Given the description of an element on the screen output the (x, y) to click on. 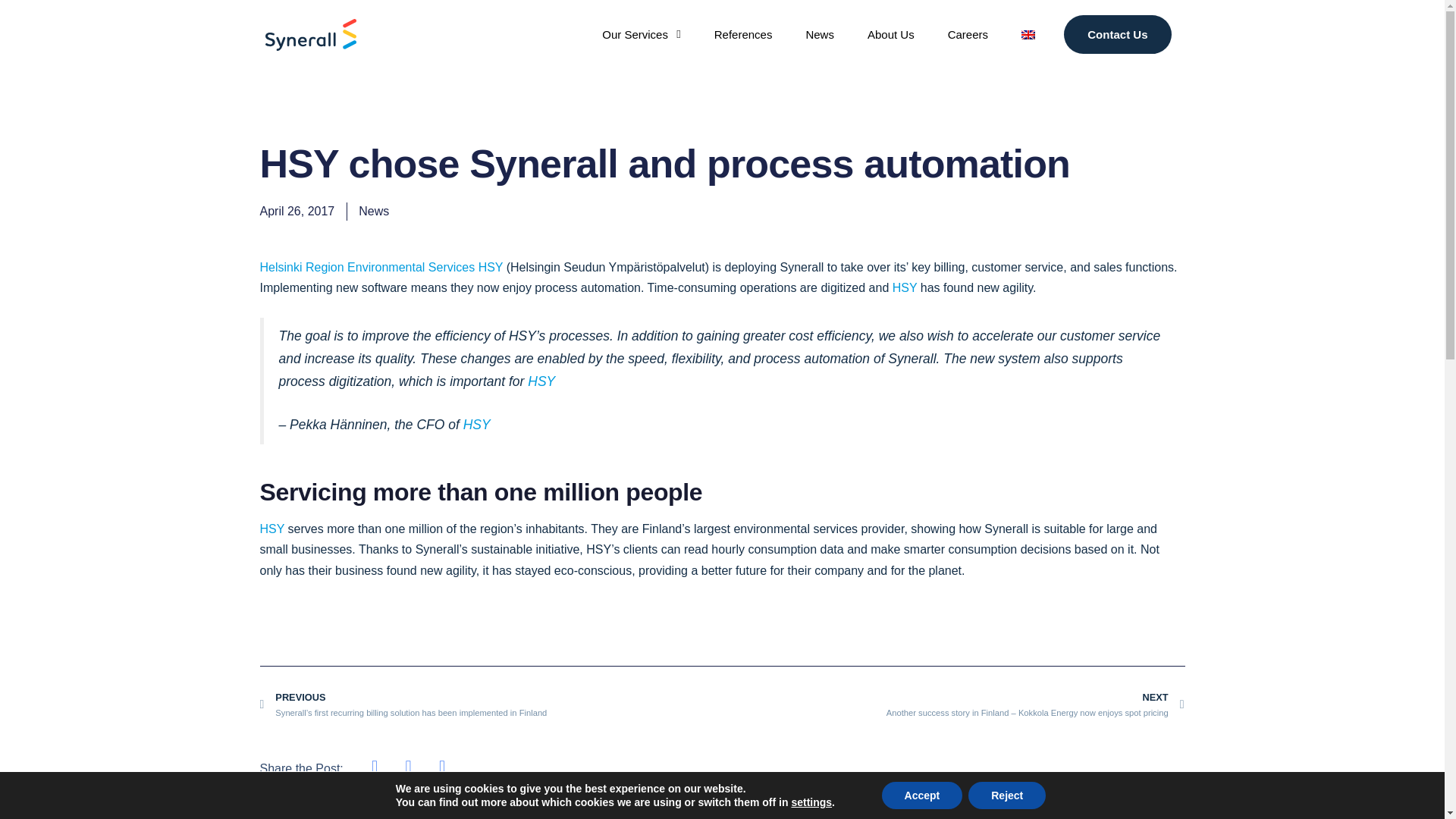
HSY (540, 381)
HSY (904, 287)
News (819, 34)
HSY (476, 424)
References (743, 34)
Careers (967, 34)
Helsinki Region Environmental Services HSY (380, 267)
Our Services (641, 34)
HSY (1118, 34)
About Us (271, 528)
